Given the description of an element on the screen output the (x, y) to click on. 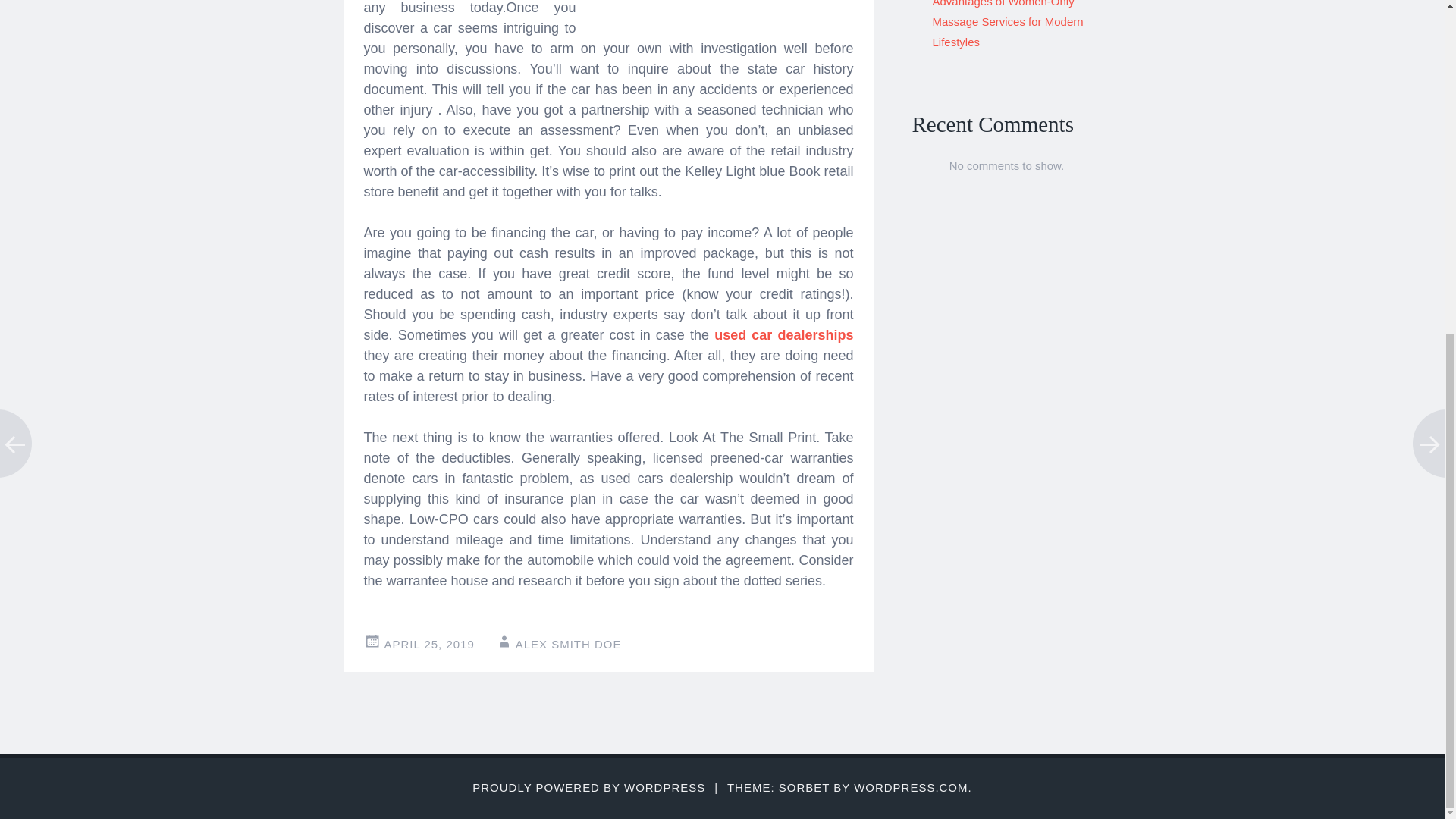
9:50 am (429, 644)
View all posts by Alex Smith Doe (568, 644)
